Given the description of an element on the screen output the (x, y) to click on. 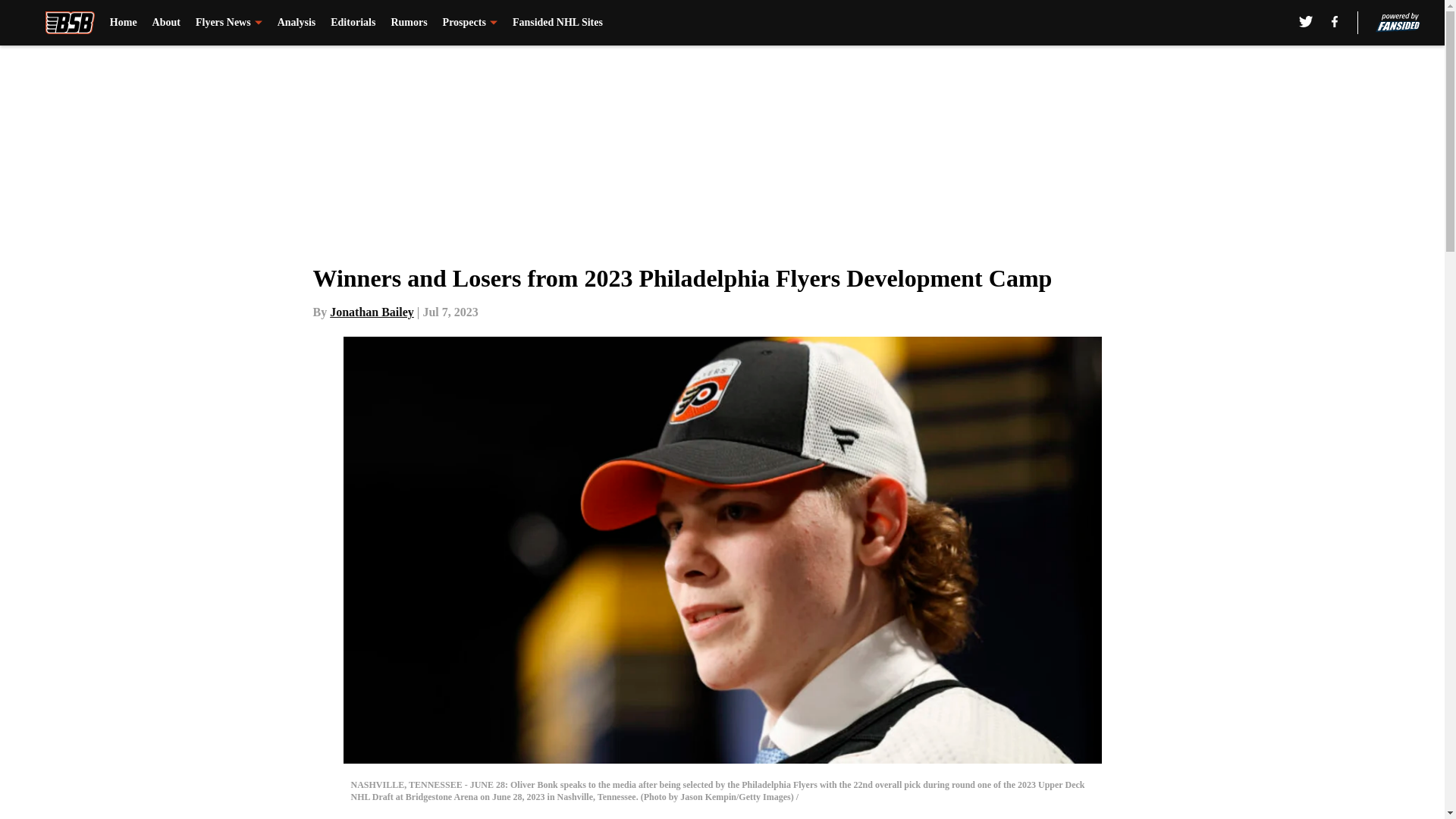
Fansided NHL Sites (557, 22)
About (166, 22)
Editorials (352, 22)
Analysis (296, 22)
Jonathan Bailey (371, 311)
Rumors (408, 22)
Home (123, 22)
